Given the description of an element on the screen output the (x, y) to click on. 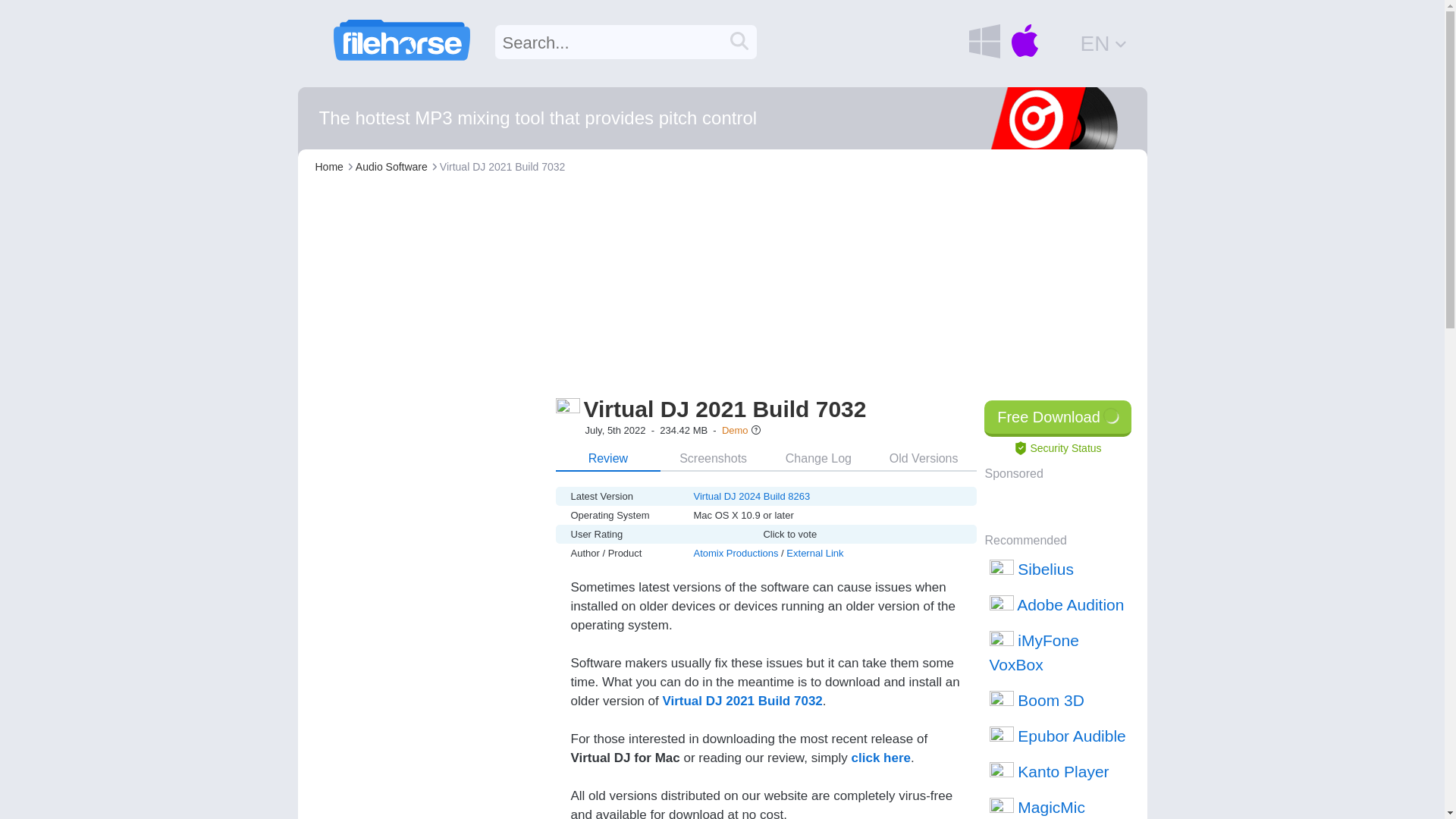
Boom 3D (1059, 700)
Free Download (1057, 418)
MagicMic (1059, 804)
Virtual DJ 2021 Build 7032 (724, 408)
English (1103, 42)
Epubor Audible (1059, 735)
Windows (984, 41)
Security Status (1056, 448)
EN (1103, 42)
iMyFone VoxBox (1059, 652)
Home (329, 166)
Sibelius (1059, 569)
Audio Software (391, 166)
Adobe Audition (1059, 604)
Kanto Player (1059, 771)
